Given the description of an element on the screen output the (x, y) to click on. 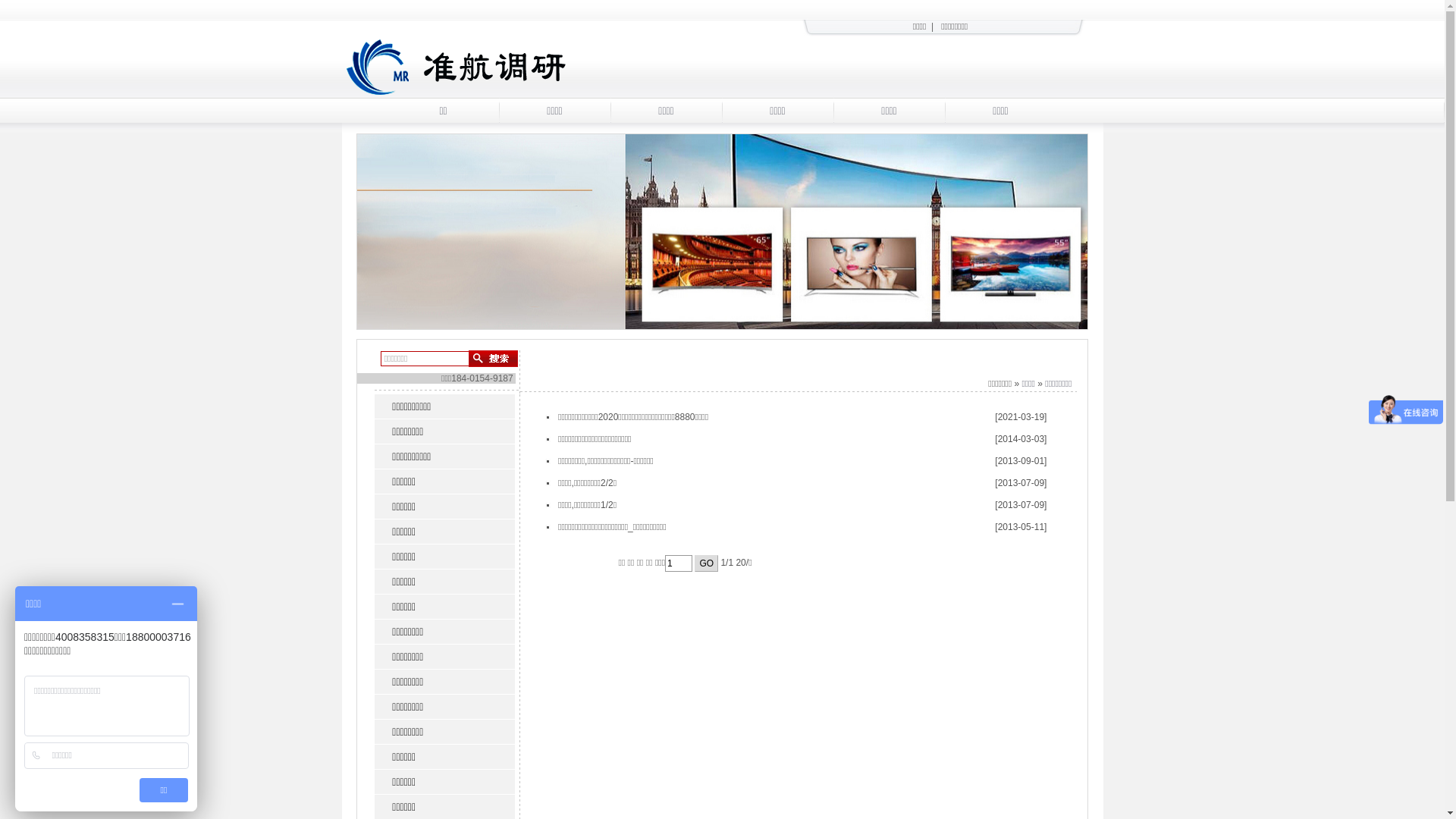
GO Element type: text (706, 563)
